Given the description of an element on the screen output the (x, y) to click on. 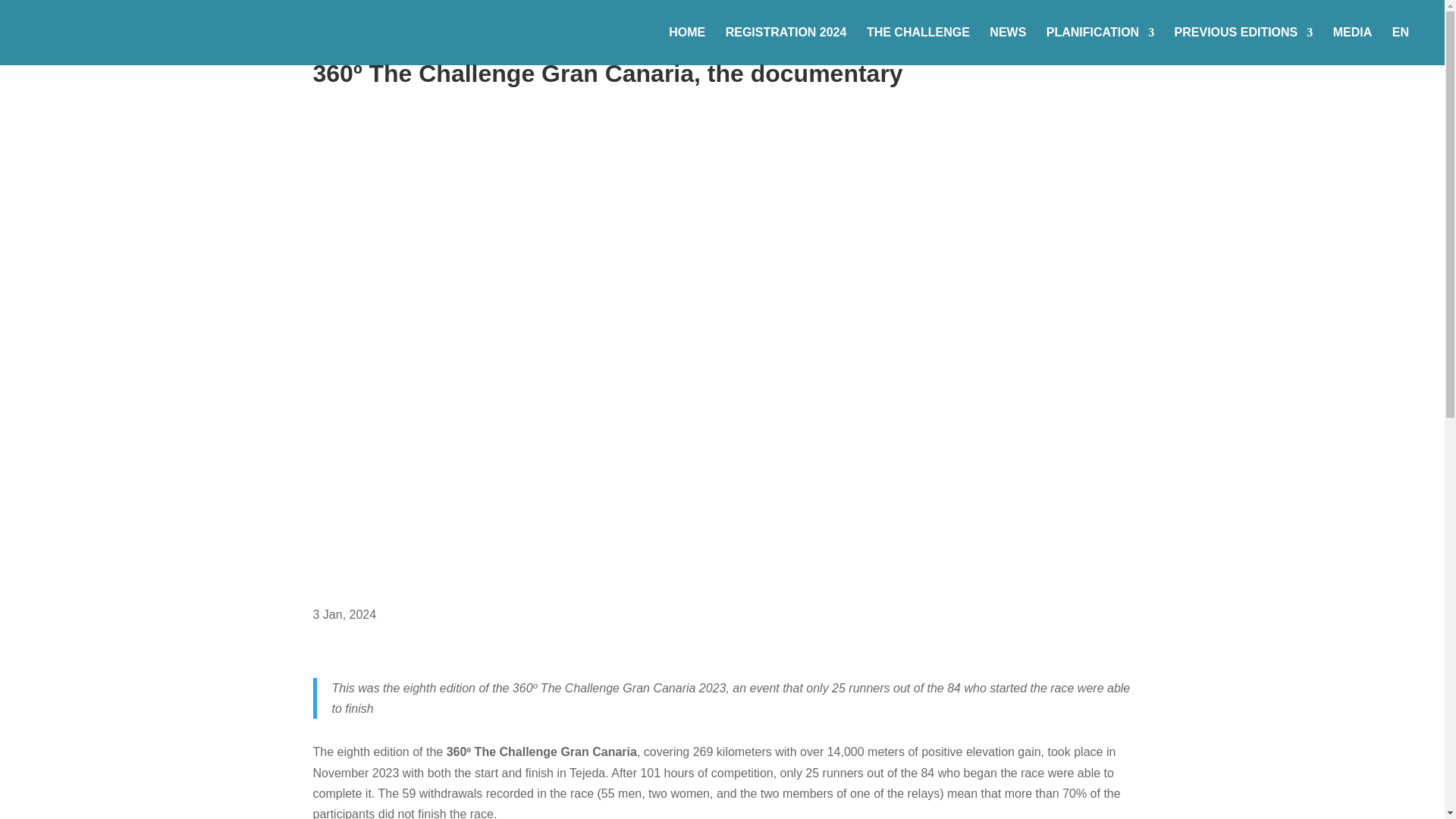
MEDIA (1353, 46)
REGISTRATION 2024 (786, 46)
NEWS (1008, 46)
PLANIFICATION (1100, 46)
PREVIOUS EDITIONS (1243, 46)
THE CHALLENGE (917, 46)
HOME (686, 46)
